Given the description of an element on the screen output the (x, y) to click on. 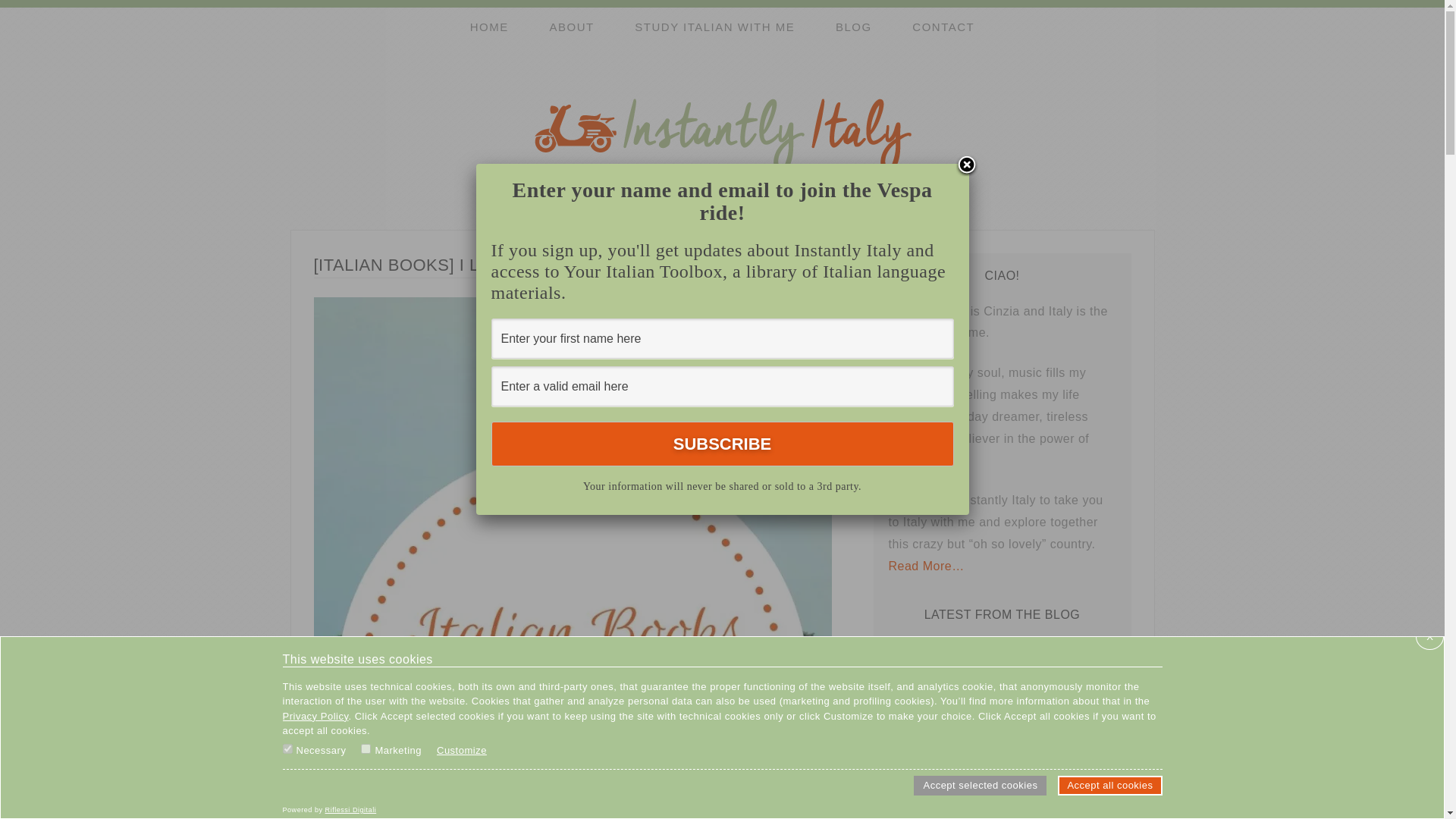
STUDY ITALIAN WITH ME (713, 27)
CONTACT (942, 27)
on (287, 748)
Subscribe (722, 443)
INSTANTLY ITALY (721, 133)
Close (966, 165)
BLOG (852, 27)
ABOUT (571, 27)
HOME (489, 27)
on (366, 748)
